Given the description of an element on the screen output the (x, y) to click on. 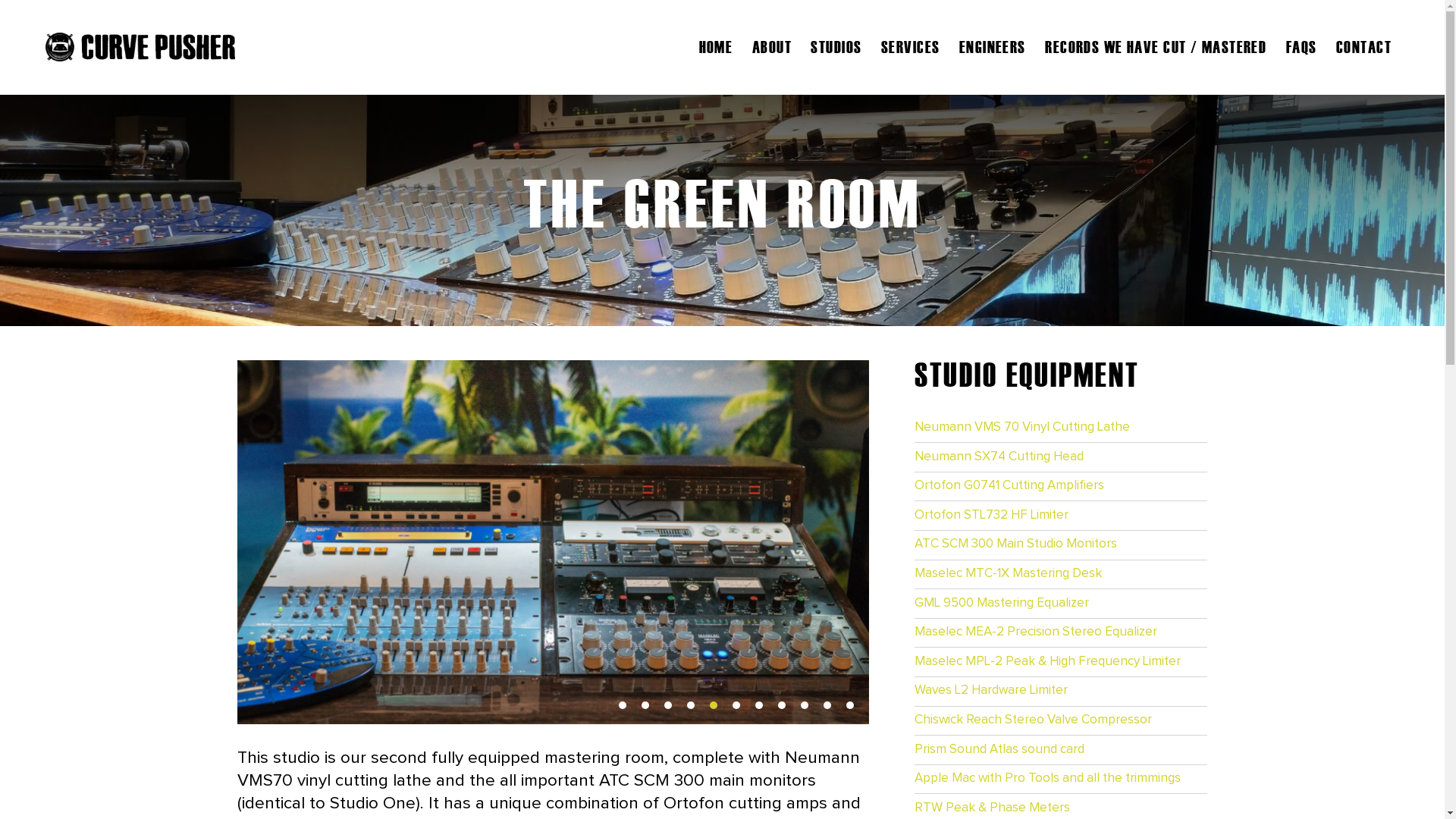
Neumann VMS 70 Vinyl Cutting Lathe (1061, 428)
Apple Mac with Pro Tools and all the trimmings (1061, 778)
ENGINEERS (992, 46)
SERVICES (910, 46)
Waves L2 Hardware Limiter (1061, 691)
Chiswick Reach Stereo Valve Compressor (1061, 720)
Neumann SX74 Cutting Head (1061, 457)
Ortofon G0741 Cutting Amplifiers (1061, 486)
Prism Sound Atlas sound card (1061, 749)
Maselec MEA-2 Precision Stereo Equalizer (1061, 633)
STUDIOS (836, 46)
Ortofon STL732 HF Limiter (1061, 515)
Maselec MTC-1X Mastering Desk (1061, 574)
HOME (716, 46)
ATC SCM 300 Main Studio Monitors (1061, 544)
